Given the description of an element on the screen output the (x, y) to click on. 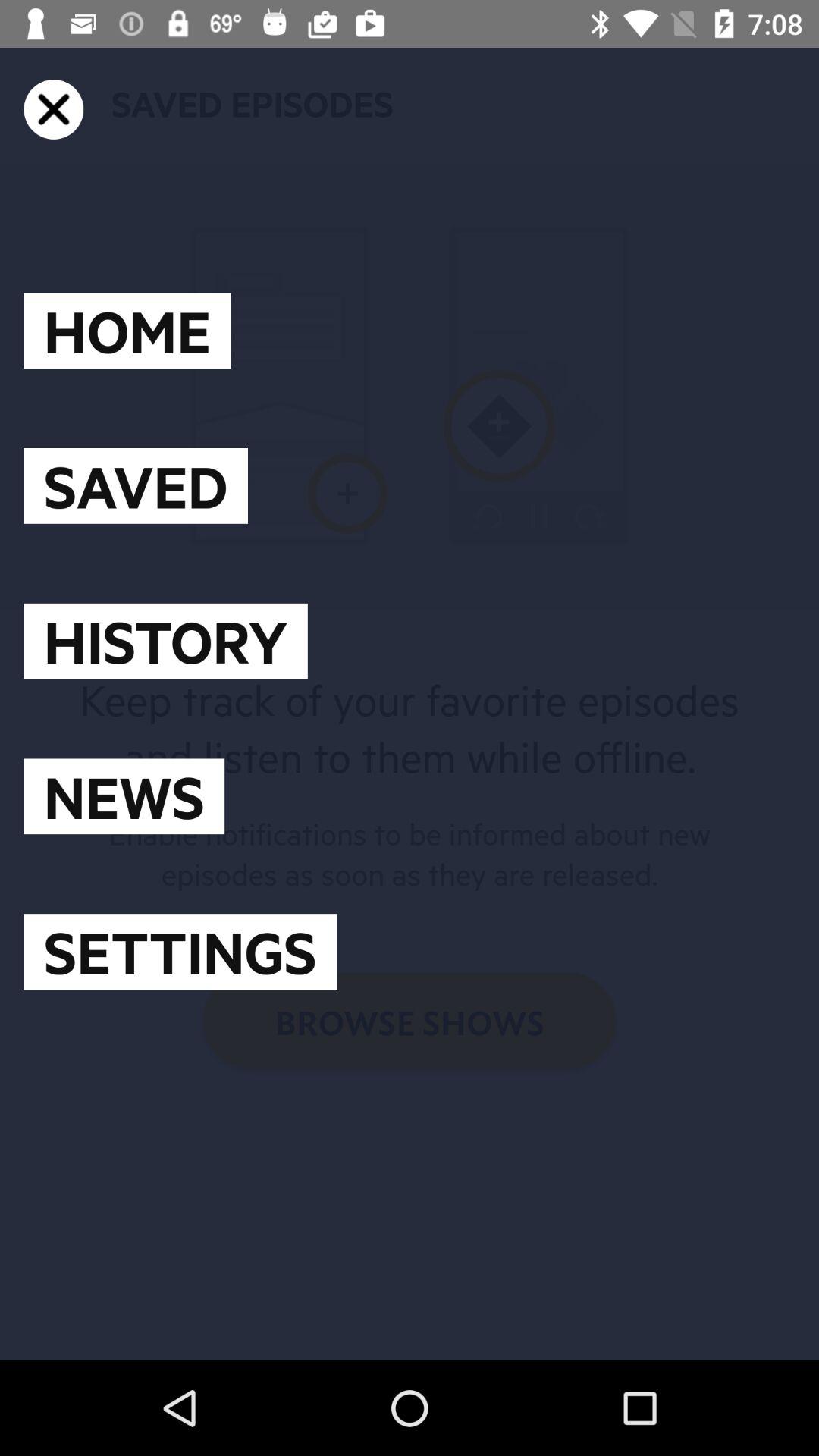
turn off the icon below the saved item (165, 641)
